Given the description of an element on the screen output the (x, y) to click on. 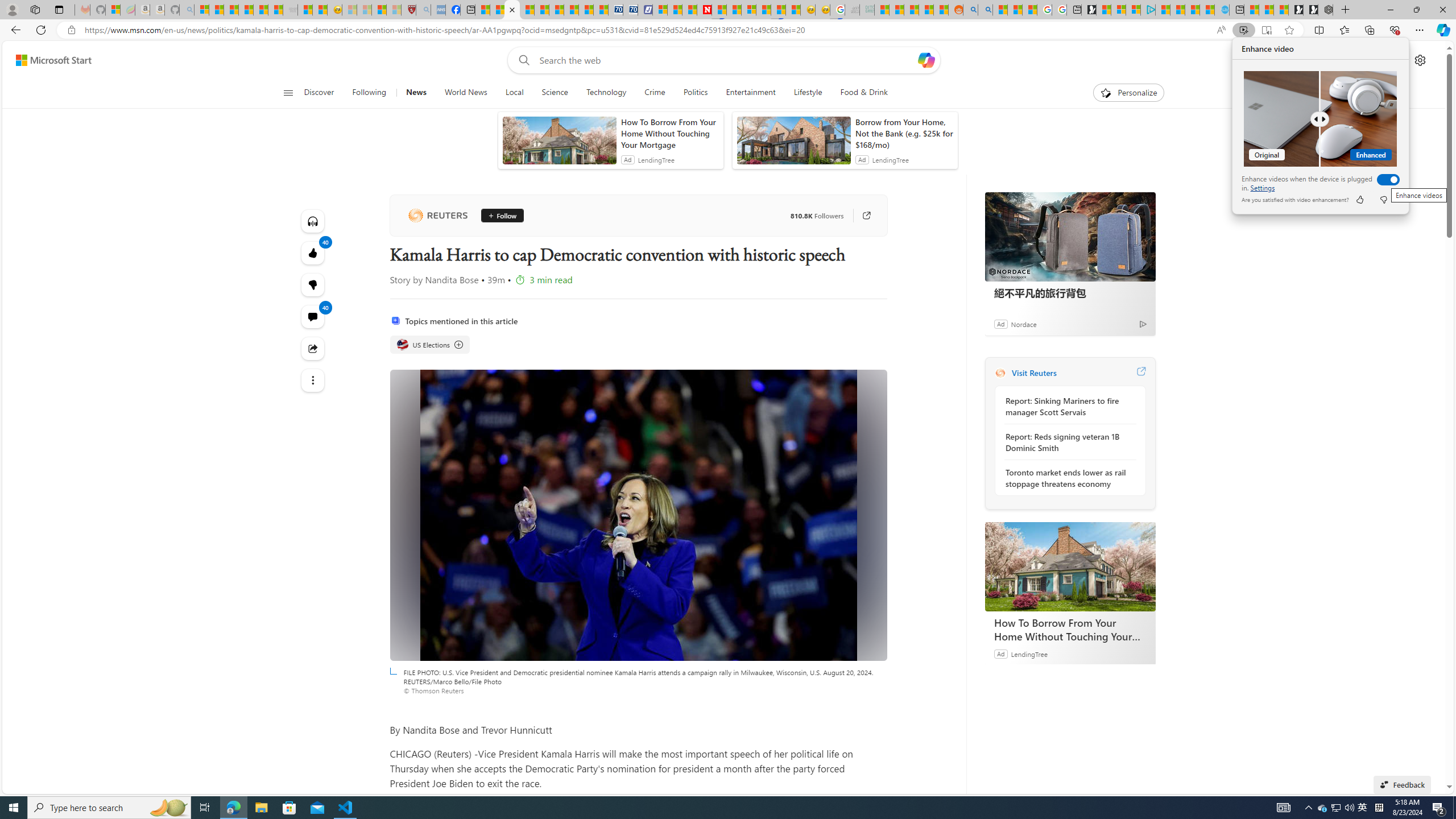
News (416, 92)
Visit Reuters website (1140, 372)
LendingTree (1029, 653)
Restore (1416, 9)
Open Copilot (926, 59)
MSN (777, 9)
Ad Choice (1142, 323)
Discover (319, 92)
